Given the description of an element on the screen output the (x, y) to click on. 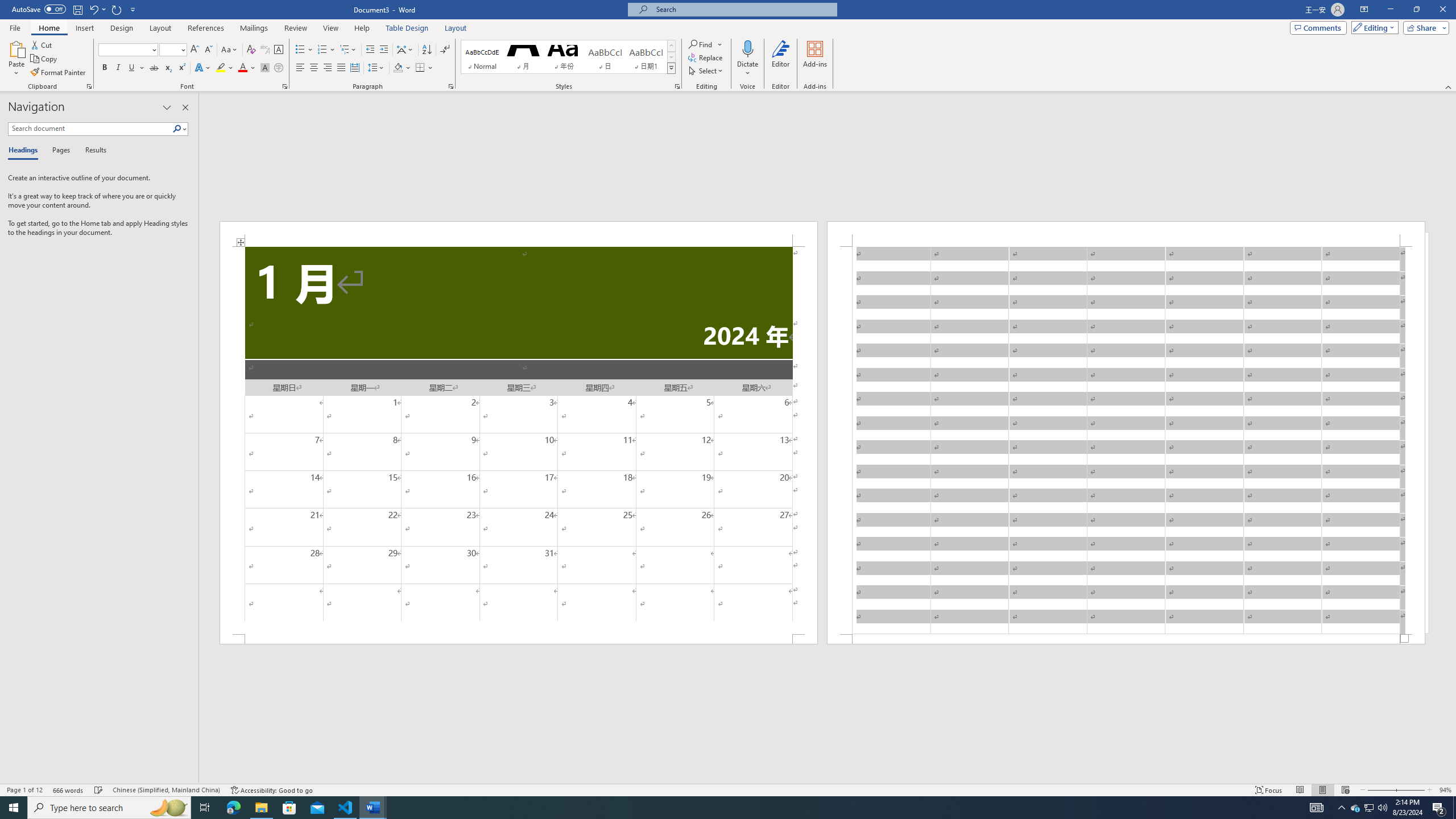
Restore Down (1416, 9)
Font (124, 49)
Mailings (253, 28)
Text Effects and Typography (202, 67)
Font Color RGB(255, 0, 0) (241, 67)
Accessibility Checker Accessibility: Good to go (271, 790)
Select (705, 69)
Design (122, 28)
Underline (136, 67)
Subscript (167, 67)
Align Right (327, 67)
Focus  (1268, 790)
Page Number Page 1 of 12 (24, 790)
Font Color (246, 67)
Header -Section 1- (1126, 233)
